Given the description of an element on the screen output the (x, y) to click on. 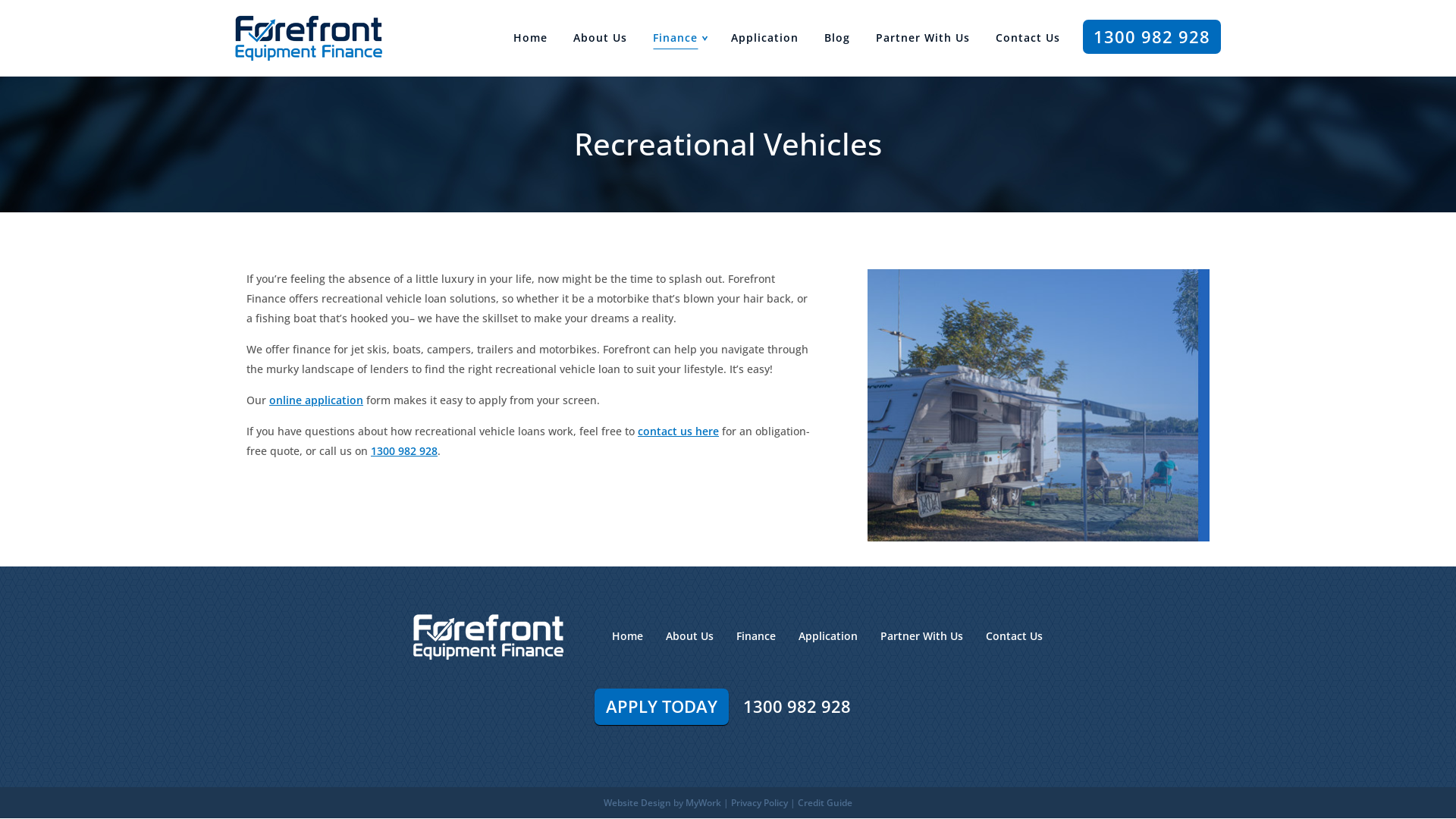
Application Element type: text (827, 635)
Contact Us Element type: text (1013, 635)
About Us Element type: text (600, 37)
MyWork Element type: text (703, 802)
online application Element type: text (316, 399)
1300 982 928 Element type: text (403, 450)
Finance Element type: text (755, 635)
Application Element type: text (764, 37)
Partner With Us Element type: text (922, 37)
About Us Element type: text (689, 635)
Website Design Element type: text (637, 802)
1300 982 928 Element type: text (1151, 36)
Contact Us Element type: text (1027, 37)
Privacy Policy Element type: text (759, 802)
Partner With Us Element type: text (921, 635)
contact us here Element type: text (677, 430)
Home Element type: text (627, 635)
Home Element type: text (530, 37)
Credit Guide Element type: text (824, 802)
APPLY TODAY Element type: text (661, 706)
Finance Element type: text (675, 37)
Blog Element type: text (836, 37)
1300 982 928 Element type: text (796, 706)
